Given the description of an element on the screen output the (x, y) to click on. 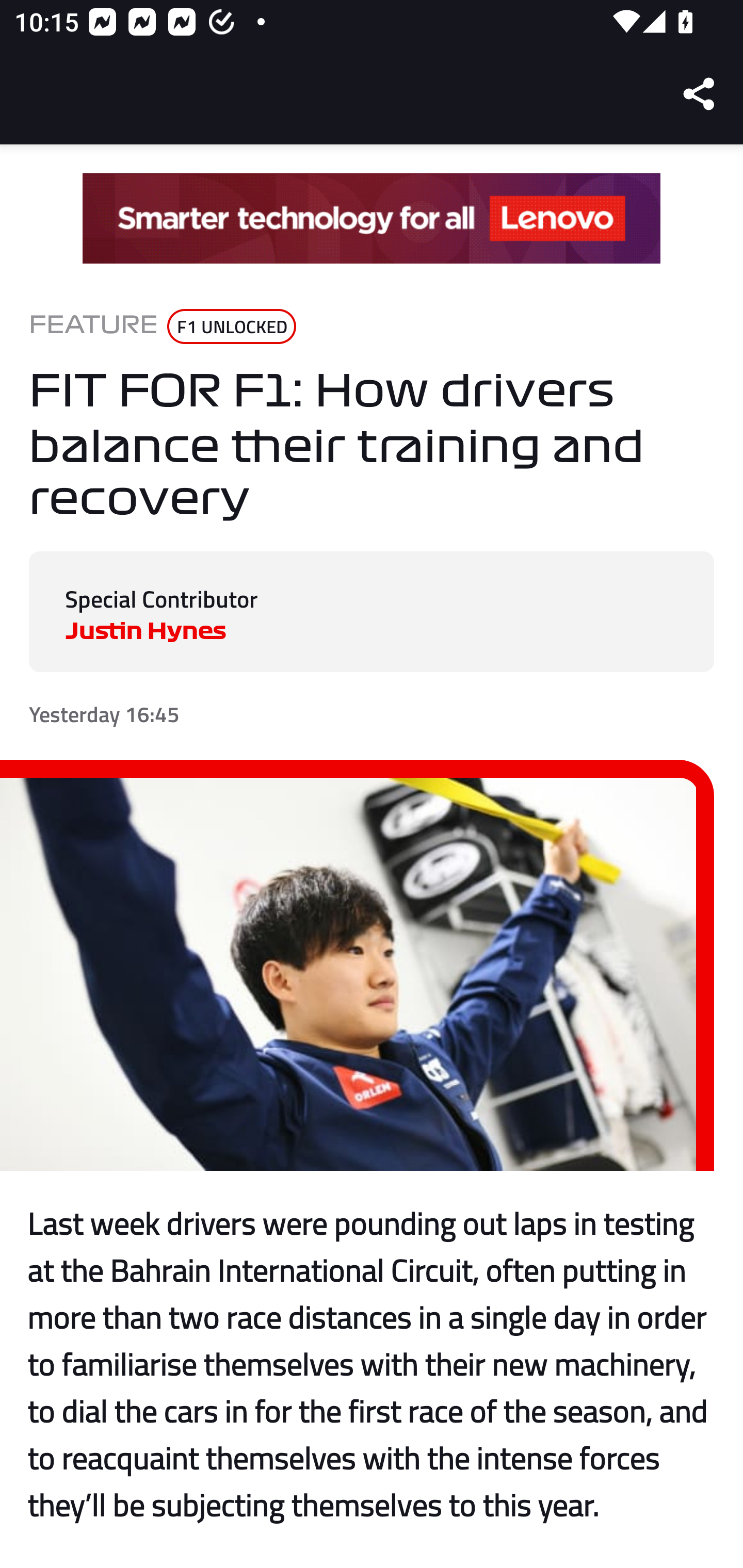
Share (699, 93)
it (371, 218)
